Given the description of an element on the screen output the (x, y) to click on. 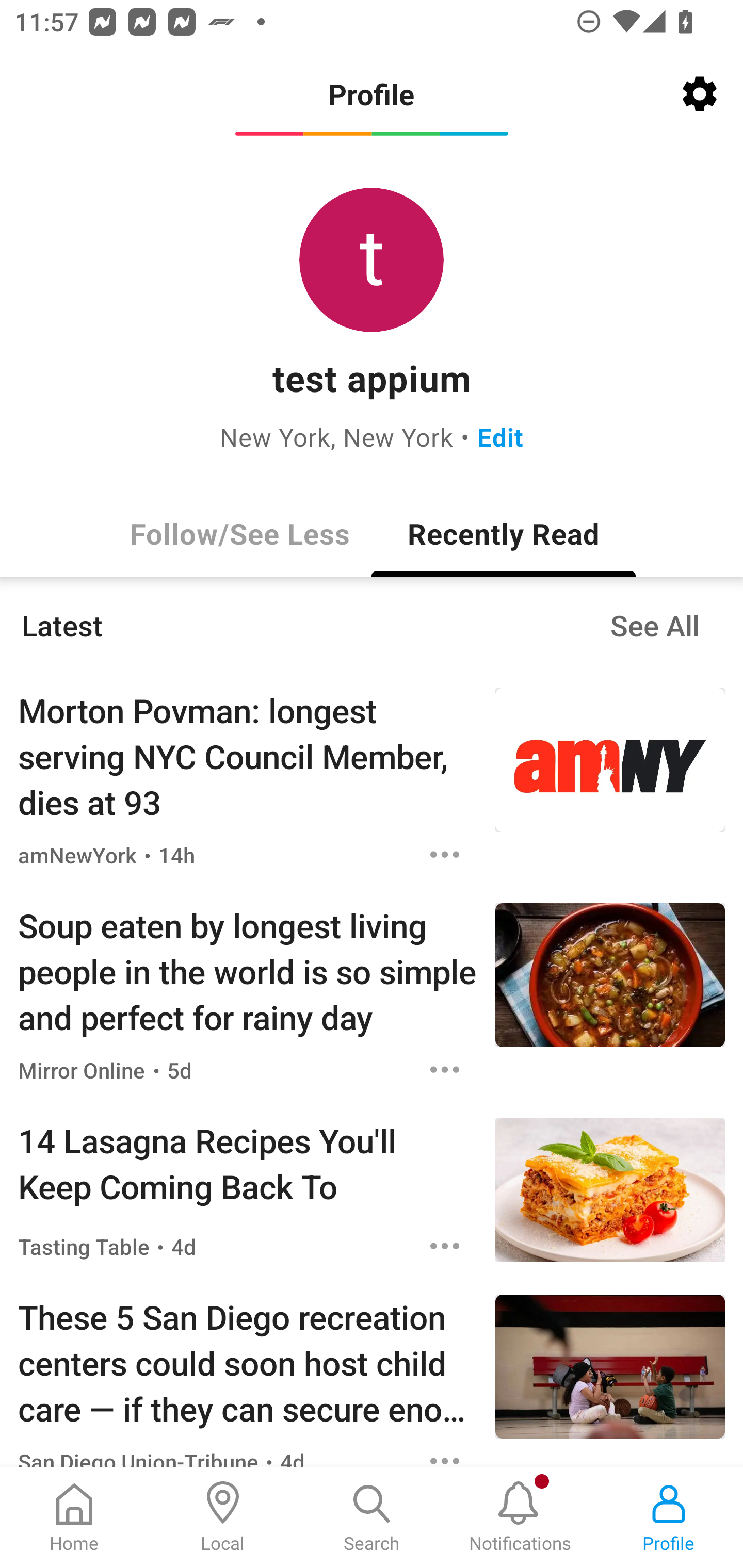
Settings (699, 93)
Edit (500, 436)
Follow/See Less (238, 533)
See All (654, 624)
Options (444, 854)
Options (444, 1069)
Options (444, 1246)
Options (444, 1453)
Home (74, 1517)
Local (222, 1517)
Search (371, 1517)
Notifications, New notification Notifications (519, 1517)
